Given the description of an element on the screen output the (x, y) to click on. 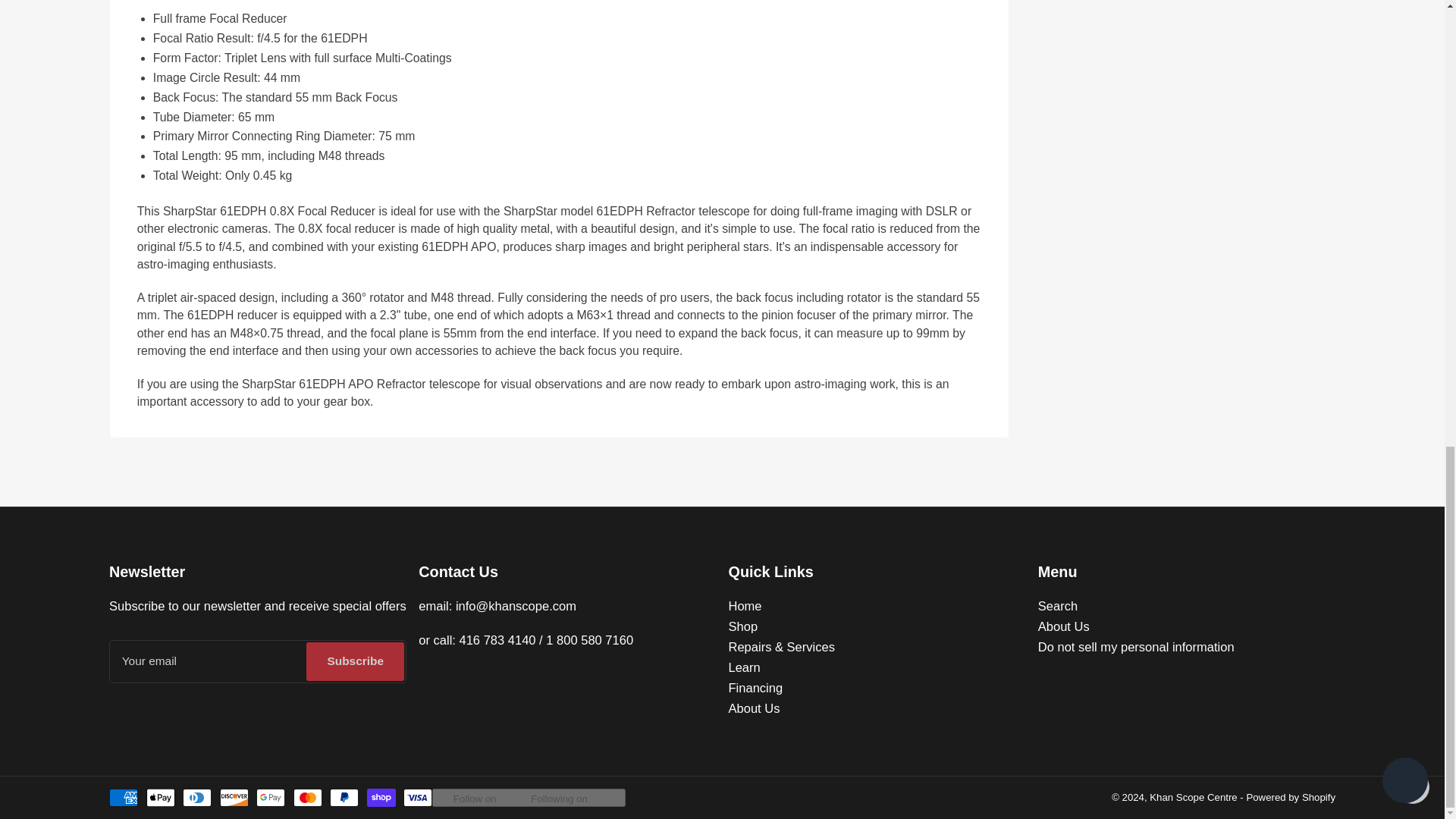
Google Pay (270, 797)
PayPal (344, 797)
Diners Club (197, 797)
Apple Pay (159, 797)
Discover (233, 797)
American Express (123, 797)
Mastercard (306, 797)
